Given the description of an element on the screen output the (x, y) to click on. 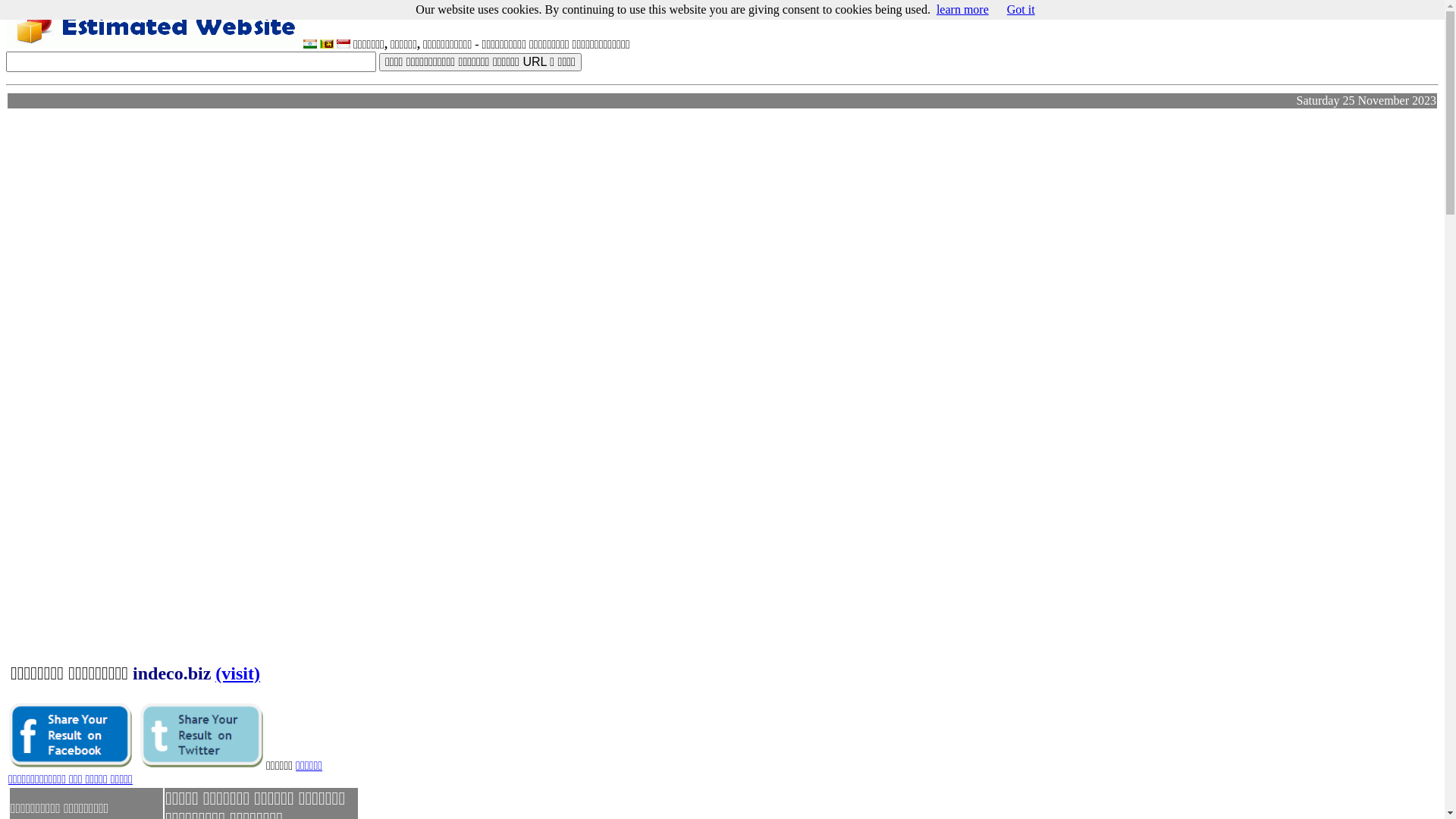
learn more Element type: text (962, 9)
Got it Element type: text (1021, 9)
(visit) Element type: text (237, 672)
